Given the description of an element on the screen output the (x, y) to click on. 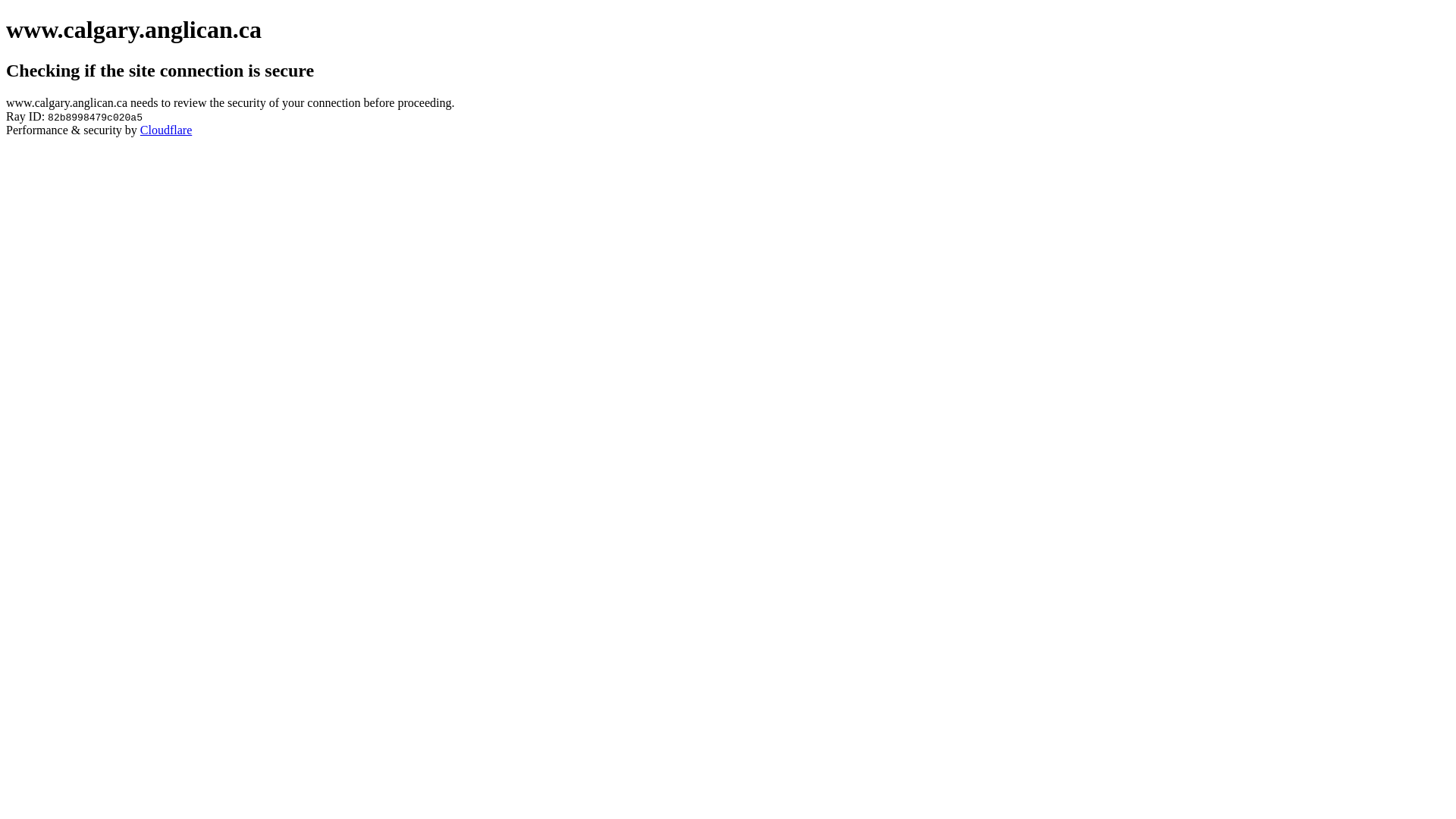
Cloudflare Element type: text (165, 129)
